Given the description of an element on the screen output the (x, y) to click on. 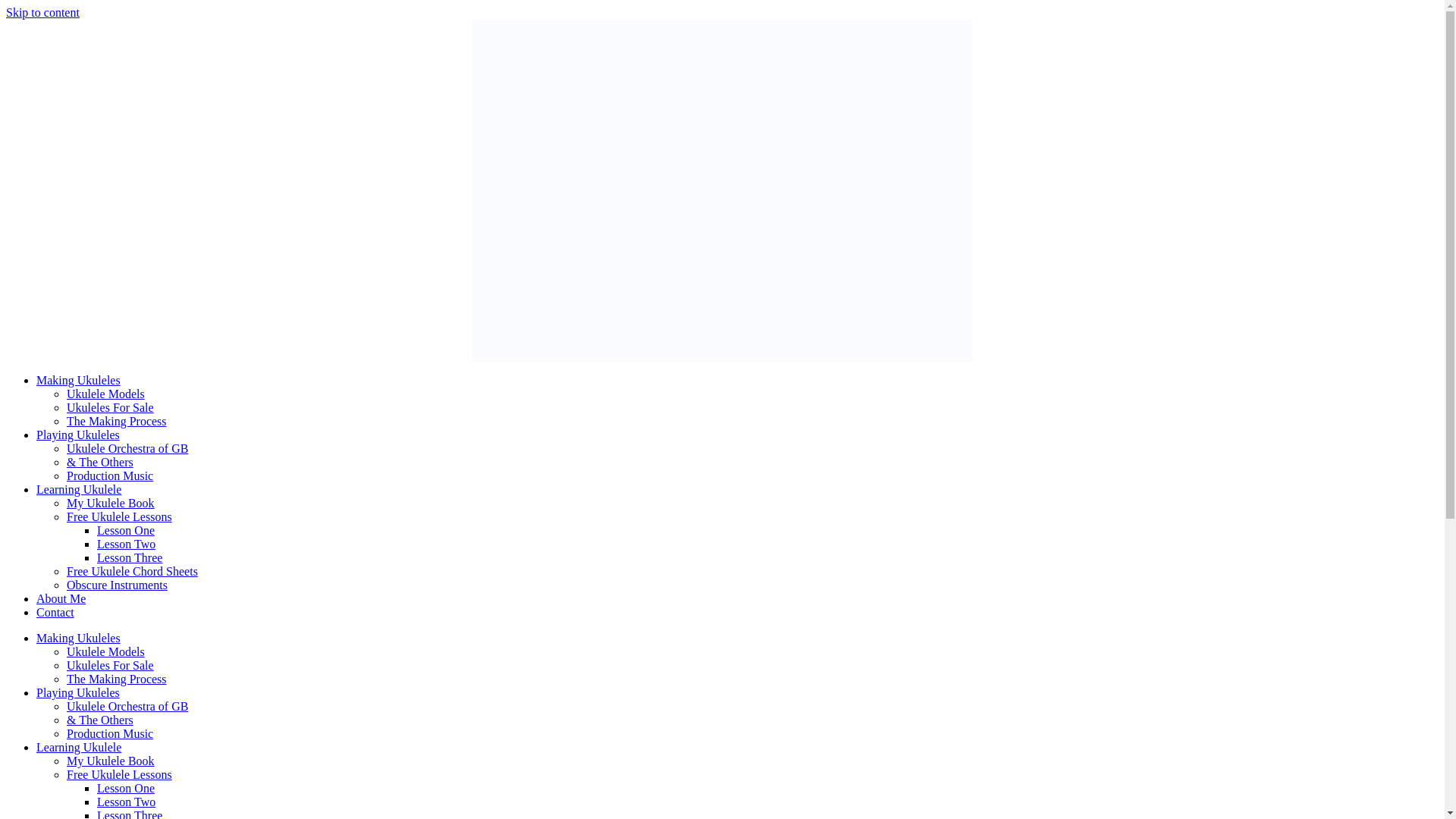
Ukulele Orchestra of GB (126, 706)
Playing Ukuleles (77, 434)
Making Ukuleles (78, 637)
Production Music (109, 475)
My Ukulele Book (110, 502)
Obscure Instruments (116, 584)
Ukulele Orchestra of GB (126, 448)
Ukuleles For Sale (110, 407)
My Ukulele Book (110, 760)
The Making Process (116, 420)
Ukulele Models (105, 393)
The Making Process (116, 678)
Skip to content (42, 11)
Learning Ukulele (78, 489)
Making Ukuleles (78, 379)
